Given the description of an element on the screen output the (x, y) to click on. 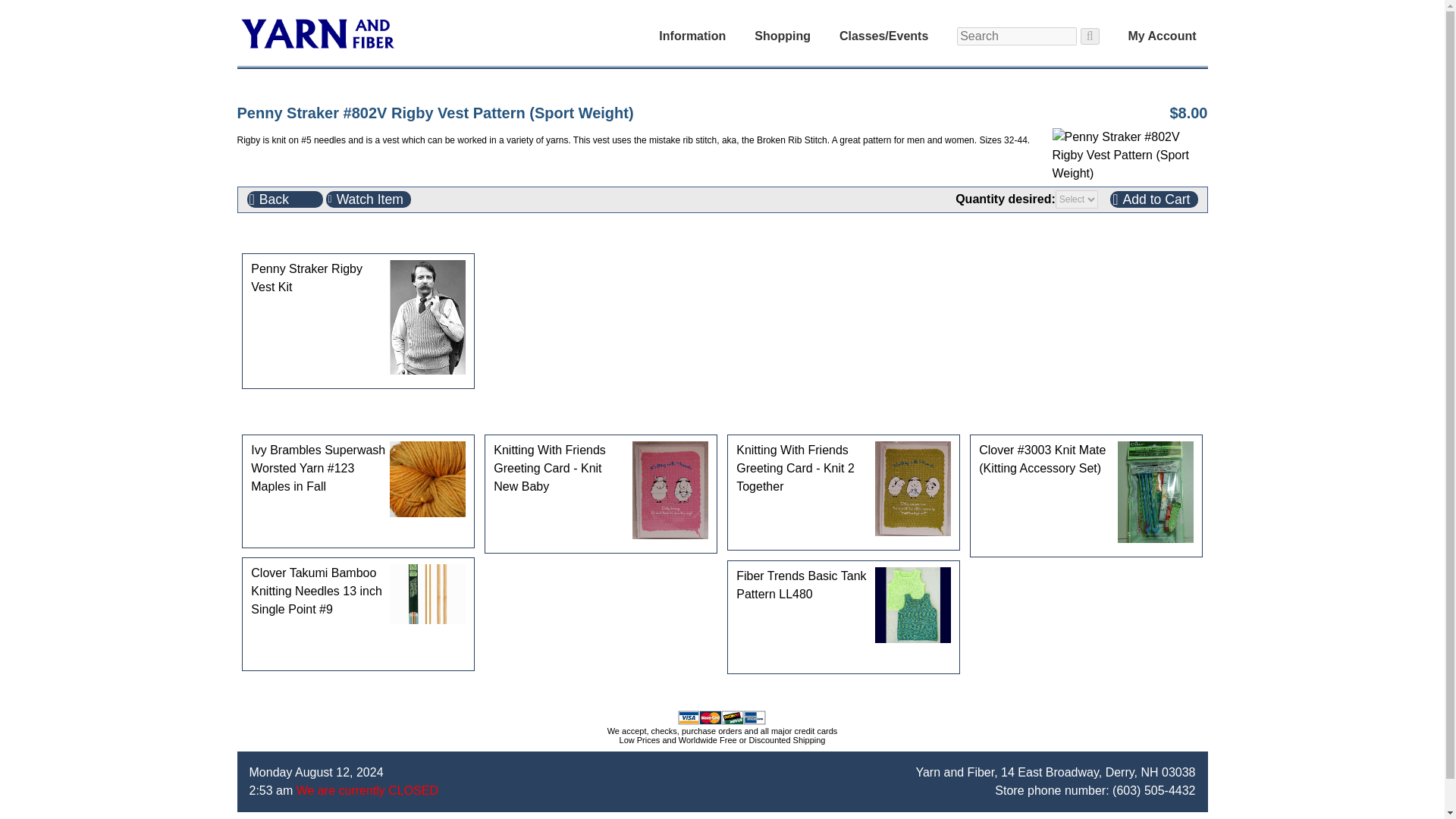
 Fiber Trends Basic Tank Pattern  LL480  (912, 604)
Knitting With Friends Greeting Card - Knit New Baby (600, 468)
Penny Straker Rigby Vest Kit (357, 278)
 visa, mastercard, discover, amex  (722, 717)
